Given the description of an element on the screen output the (x, y) to click on. 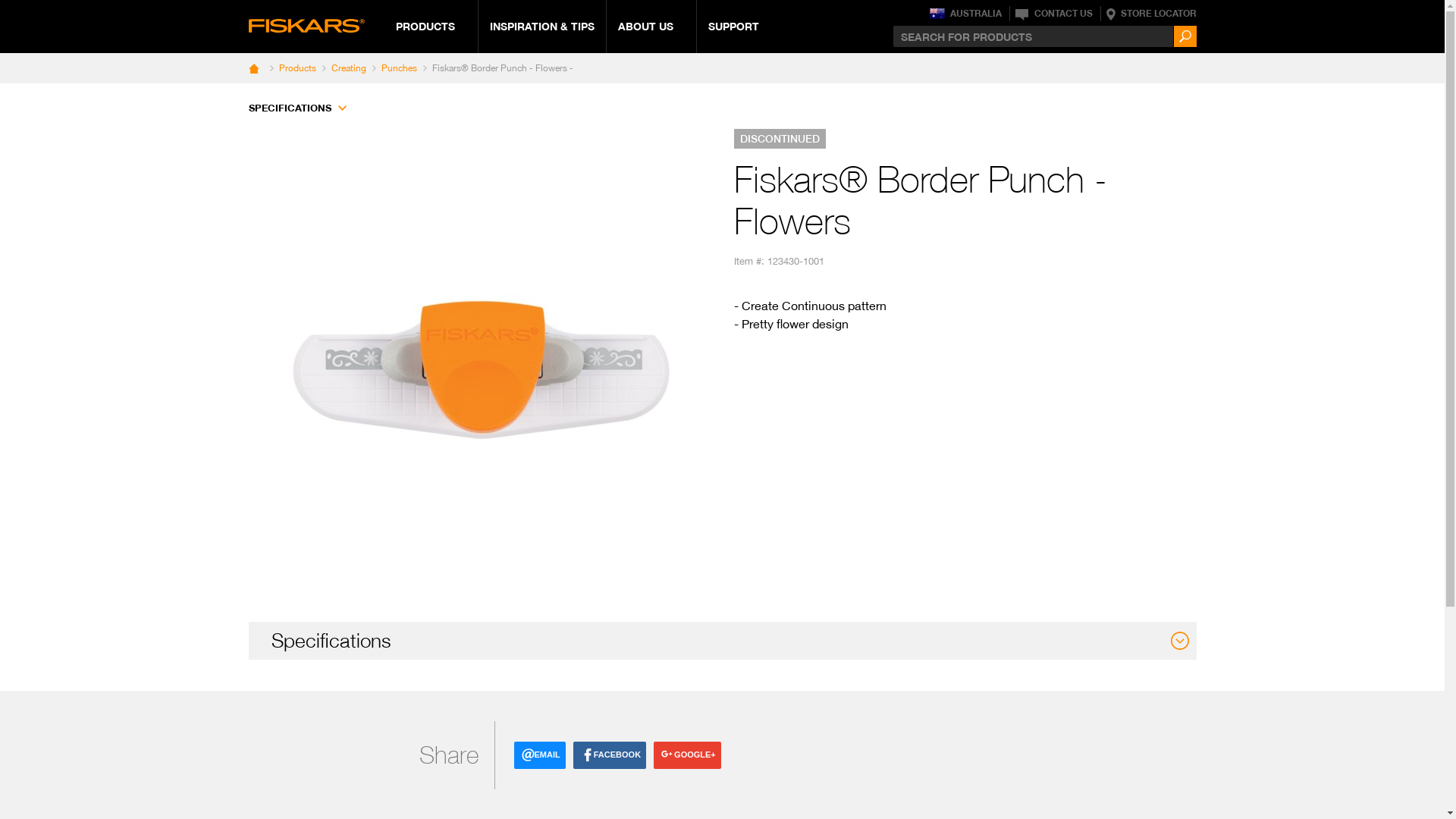
PRODUCTS Element type: text (425, 25)
SUPPORT Element type: text (733, 25)
EMAIL Element type: text (539, 754)
INSPIRATION & TIPS Element type: text (541, 25)
Creating Element type: text (346, 68)
Punches Element type: text (396, 68)
STORE LOCATOR Element type: text (1150, 13)
  Element type: text (258, 68)
Products Element type: text (295, 68)
Specifications Element type: text (331, 640)
CONTACT US Element type: text (1052, 13)
GOOGLE+ Element type: text (687, 754)
ABOUT US Element type: text (644, 25)
SPECIFICATIONS Element type: text (289, 107)
AUSTRALIA Element type: text (965, 13)
FACEBOOK Element type: text (609, 754)
